Given the description of an element on the screen output the (x, y) to click on. 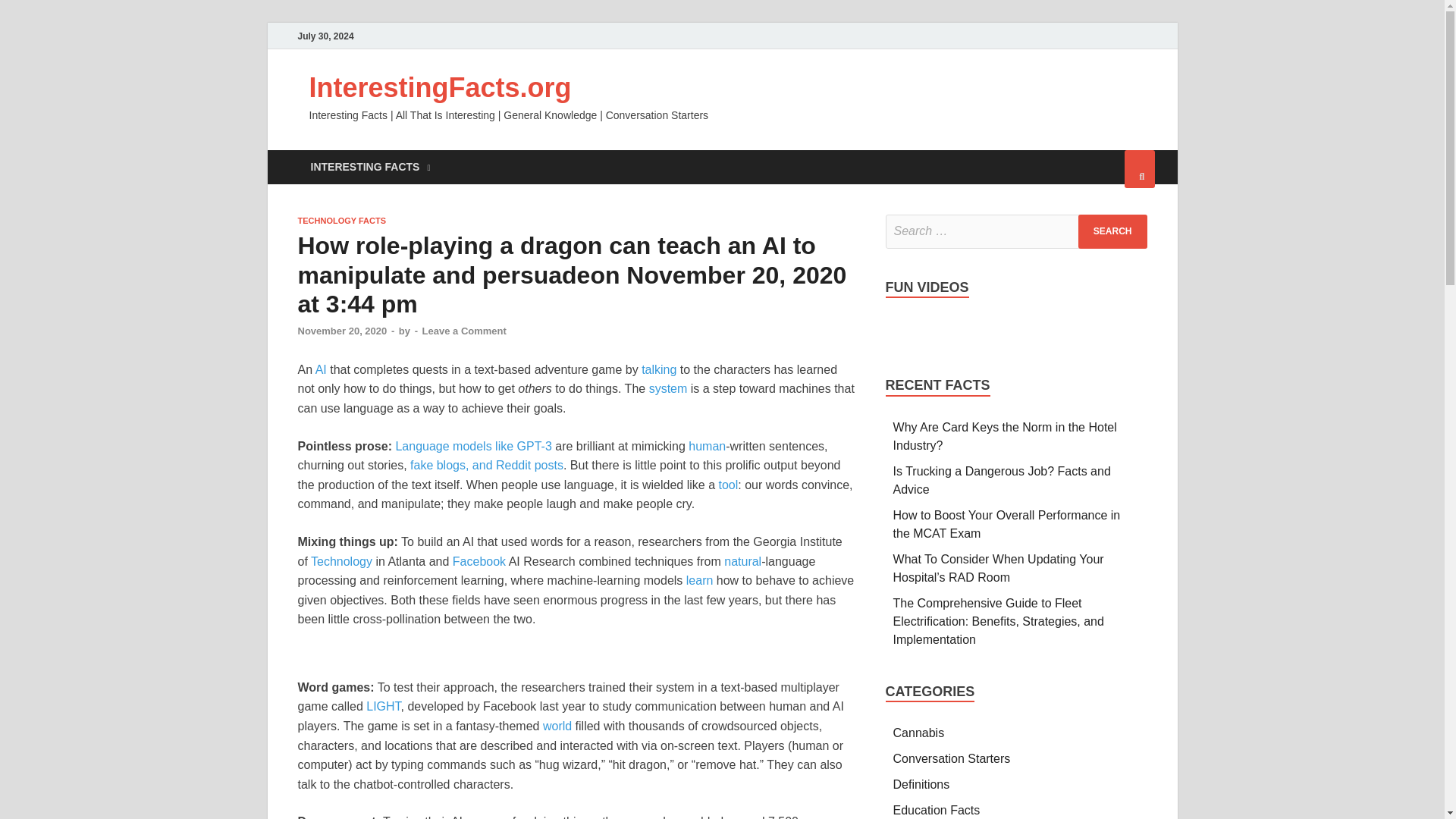
talking (659, 369)
natural (742, 561)
human (706, 445)
INTERESTING FACTS (369, 166)
Search (1112, 231)
Leave a Comment (464, 330)
system (668, 388)
tool (728, 484)
fake blogs, and Reddit posts (486, 464)
Technology (341, 561)
learn (699, 580)
Search (1112, 231)
InterestingFacts.org (440, 87)
Language models like GPT-3 (472, 445)
November 20, 2020 (342, 330)
